Given the description of an element on the screen output the (x, y) to click on. 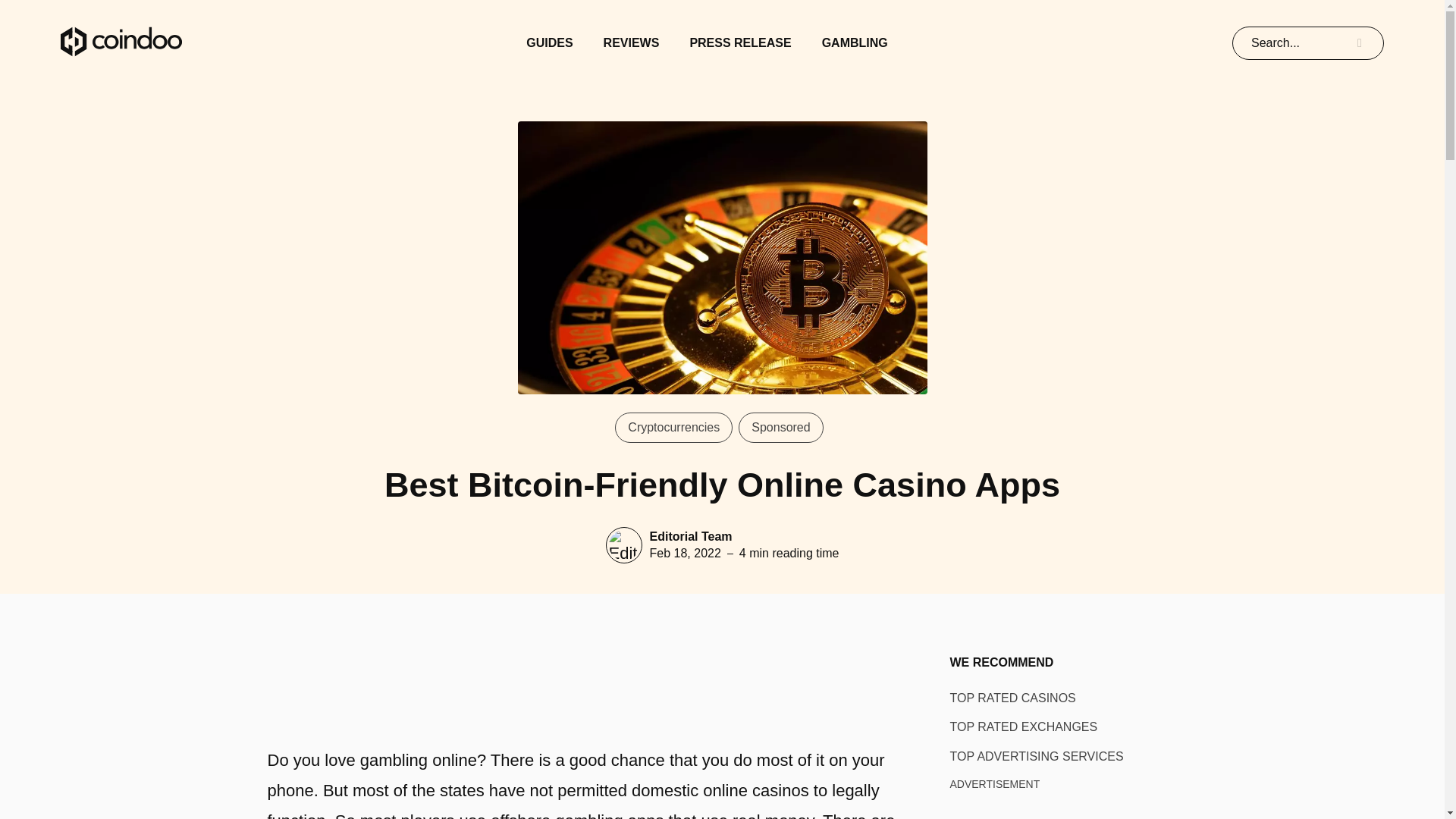
GAMBLING (855, 42)
Coindoo (121, 42)
Sponsored (780, 427)
Cryptocurrencies (673, 427)
GUIDES (548, 42)
PRESS RELEASE (739, 42)
Editorial Team (690, 536)
REVIEWS (631, 42)
